Given the description of an element on the screen output the (x, y) to click on. 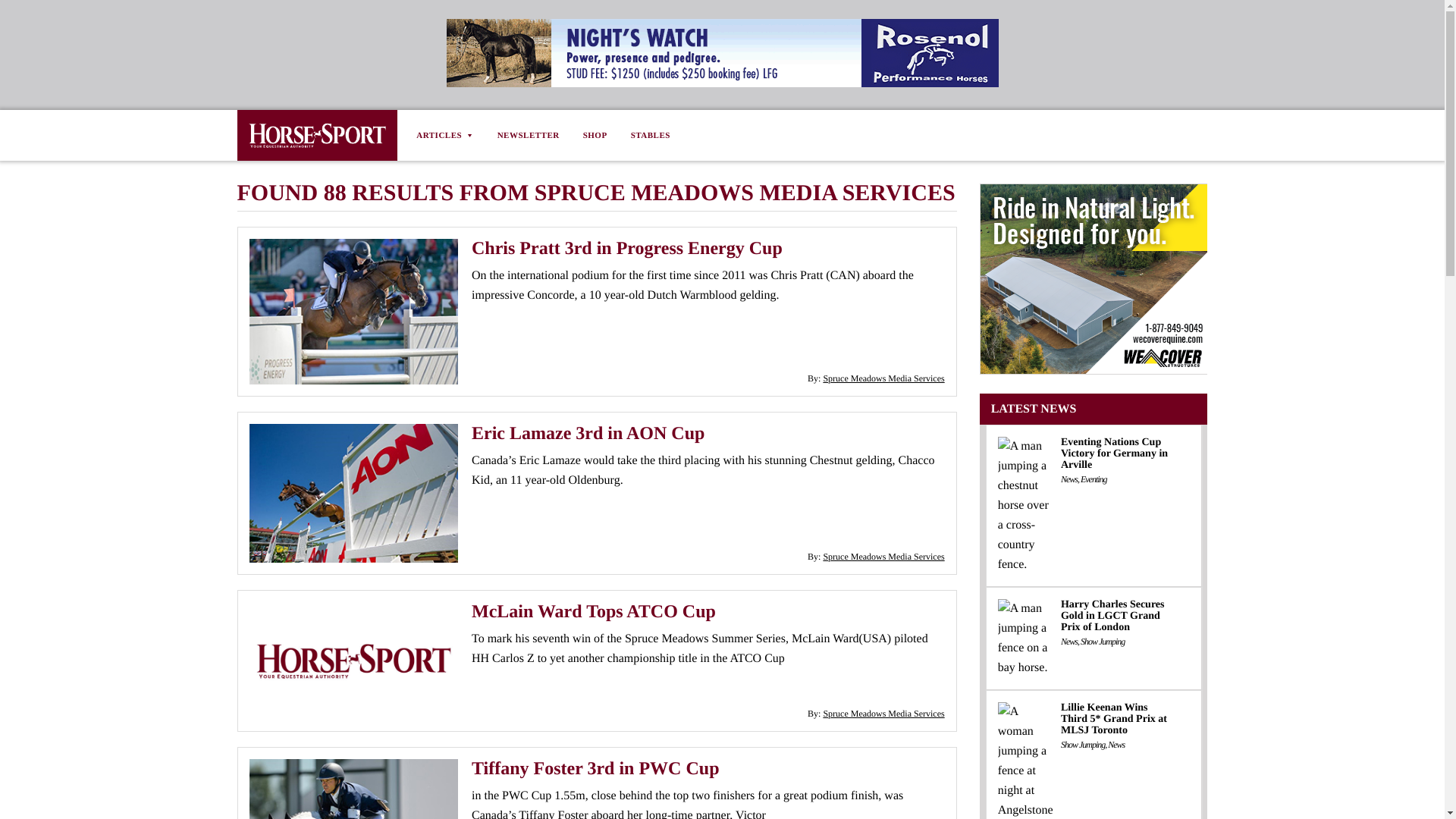
McLain Ward Tops ATCO Cup (593, 611)
Chris Pratt 3rd in Progress Energy Cup (627, 248)
Tiffany Foster 3rd in PWC Cup (595, 768)
Spruce Meadows Media Services (882, 713)
Spruce Meadows Media Services (882, 556)
SHOP (594, 134)
Eric Lamaze 3rd in AON Cup (587, 433)
NEWSLETTER (527, 134)
ARTICLES (450, 134)
Spruce Meadows Media Services (882, 378)
